Given the description of an element on the screen output the (x, y) to click on. 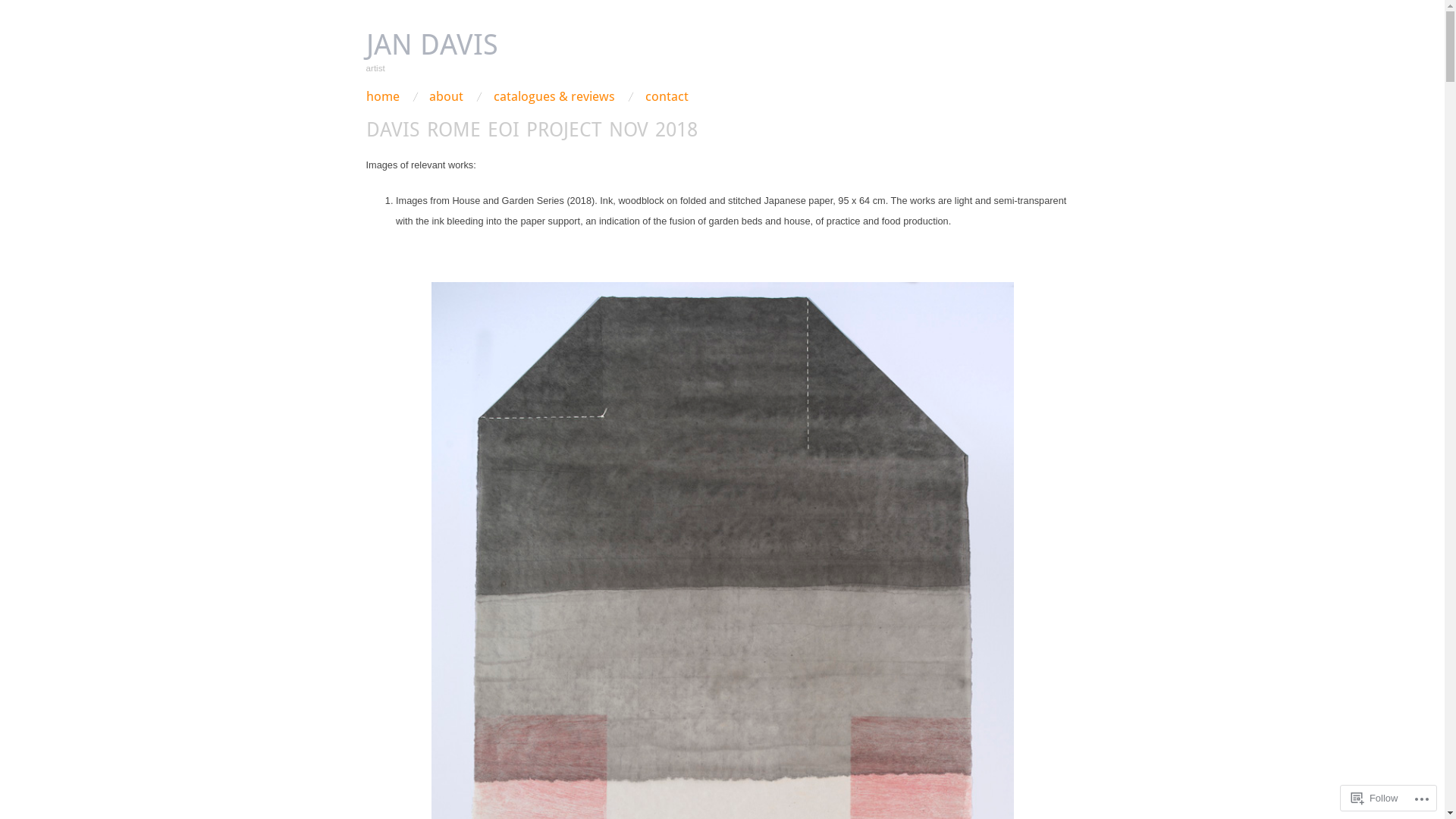
catalogues & reviews Element type: text (554, 96)
contact Element type: text (666, 96)
home Element type: text (381, 96)
about Element type: text (446, 96)
Follow Element type: text (1374, 797)
skip to content Element type: text (408, 96)
JAN DAVIS Element type: text (431, 44)
